Given the description of an element on the screen output the (x, y) to click on. 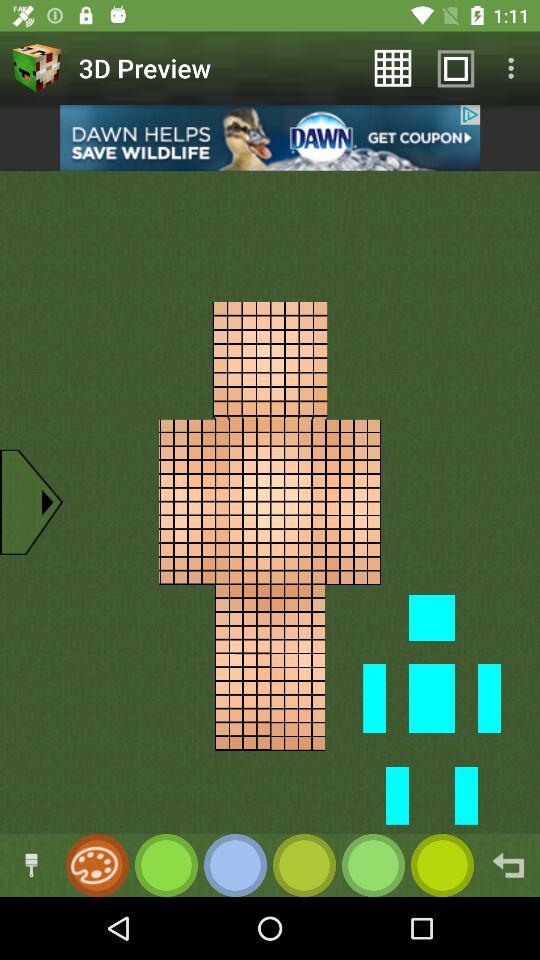
select color (166, 865)
